Given the description of an element on the screen output the (x, y) to click on. 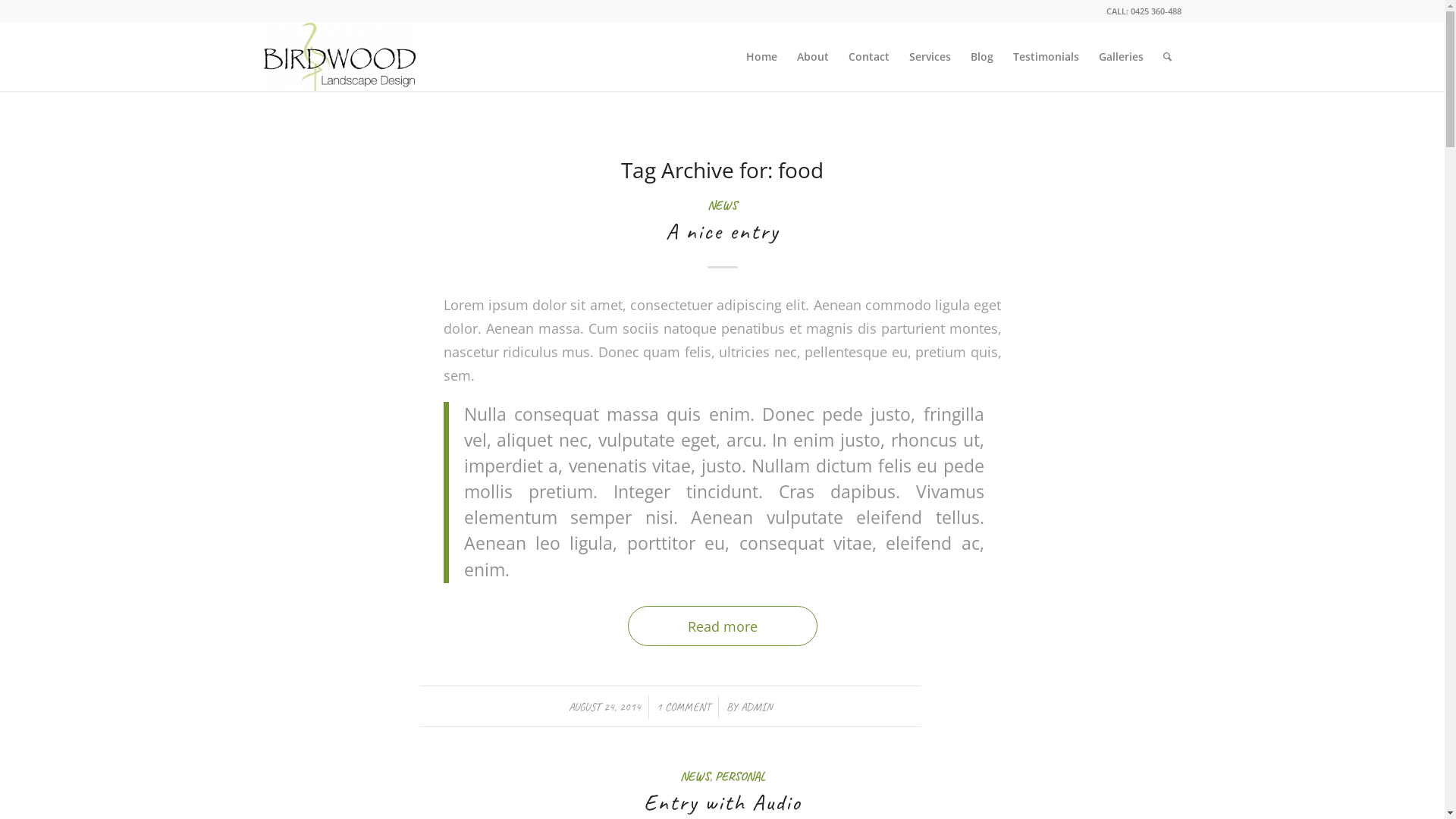
1 COMMENT Element type: text (683, 706)
Testimonials Element type: text (1045, 56)
Entry with Audio Element type: text (721, 801)
NEWS Element type: text (694, 776)
Home Element type: text (760, 56)
ADMIN Element type: text (755, 706)
Blog Element type: text (981, 56)
A nice entry Element type: text (721, 230)
NEWS Element type: text (722, 205)
Galleries Element type: text (1120, 56)
Contact Element type: text (868, 56)
PERSONAL Element type: text (739, 776)
Read more Element type: text (722, 625)
About Element type: text (812, 56)
Services Element type: text (929, 56)
